Given the description of an element on the screen output the (x, y) to click on. 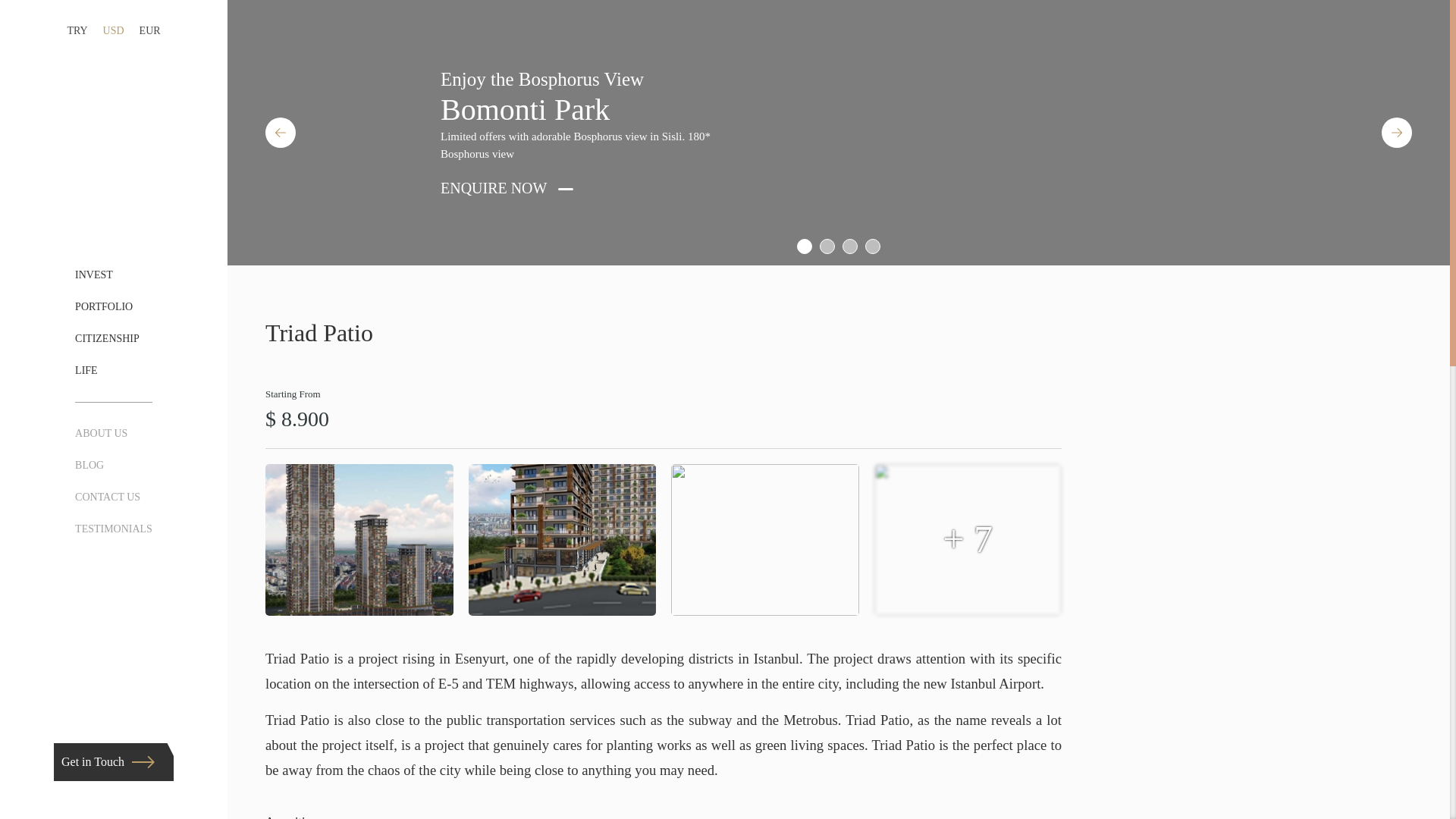
ABOUT US (101, 432)
1 (804, 246)
TRY (76, 30)
Get in Touch (113, 761)
3 (850, 246)
USD (113, 30)
2 (826, 246)
ENQUIRE NOW (501, 188)
BLOG (89, 464)
TESTIMONIALS (113, 528)
4 (872, 246)
INVEST (94, 274)
LIFE (86, 369)
EUR (149, 30)
CITIZENSHIP (107, 337)
